Given the description of an element on the screen output the (x, y) to click on. 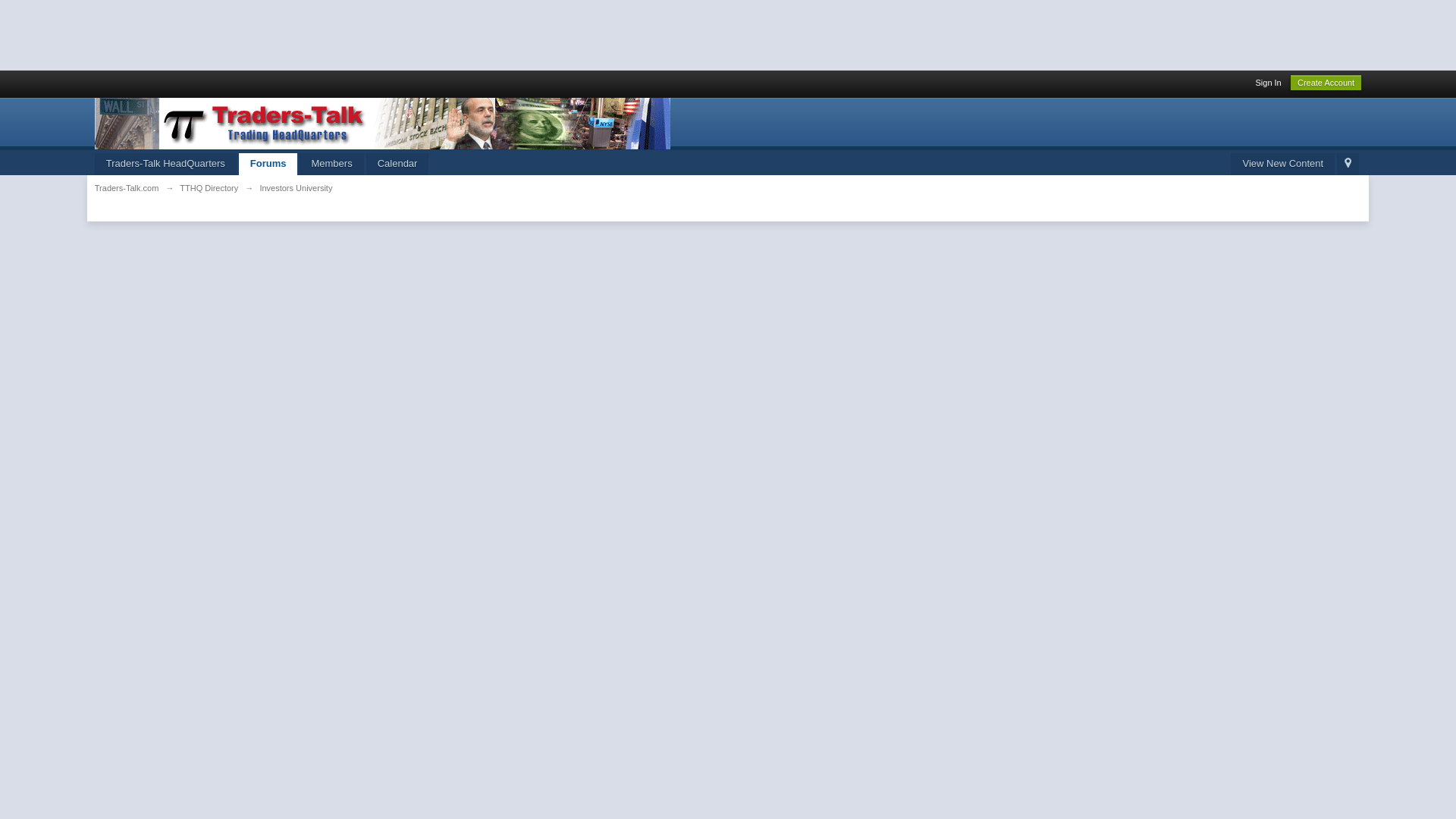
Go to community index (381, 122)
Return to Investors University (295, 187)
Investors University (295, 187)
Sign In (1268, 81)
Create Account (1325, 82)
TTHQ Directory (208, 187)
Advertisement (275, 33)
Create Account (1325, 82)
Traders-Talk.com (126, 187)
Go to Members (330, 164)
Go to Forums (268, 164)
Go to Traders-Talk HeadQuarters (164, 164)
Return to TTHQ Directory (208, 187)
Members (330, 164)
